Given the description of an element on the screen output the (x, y) to click on. 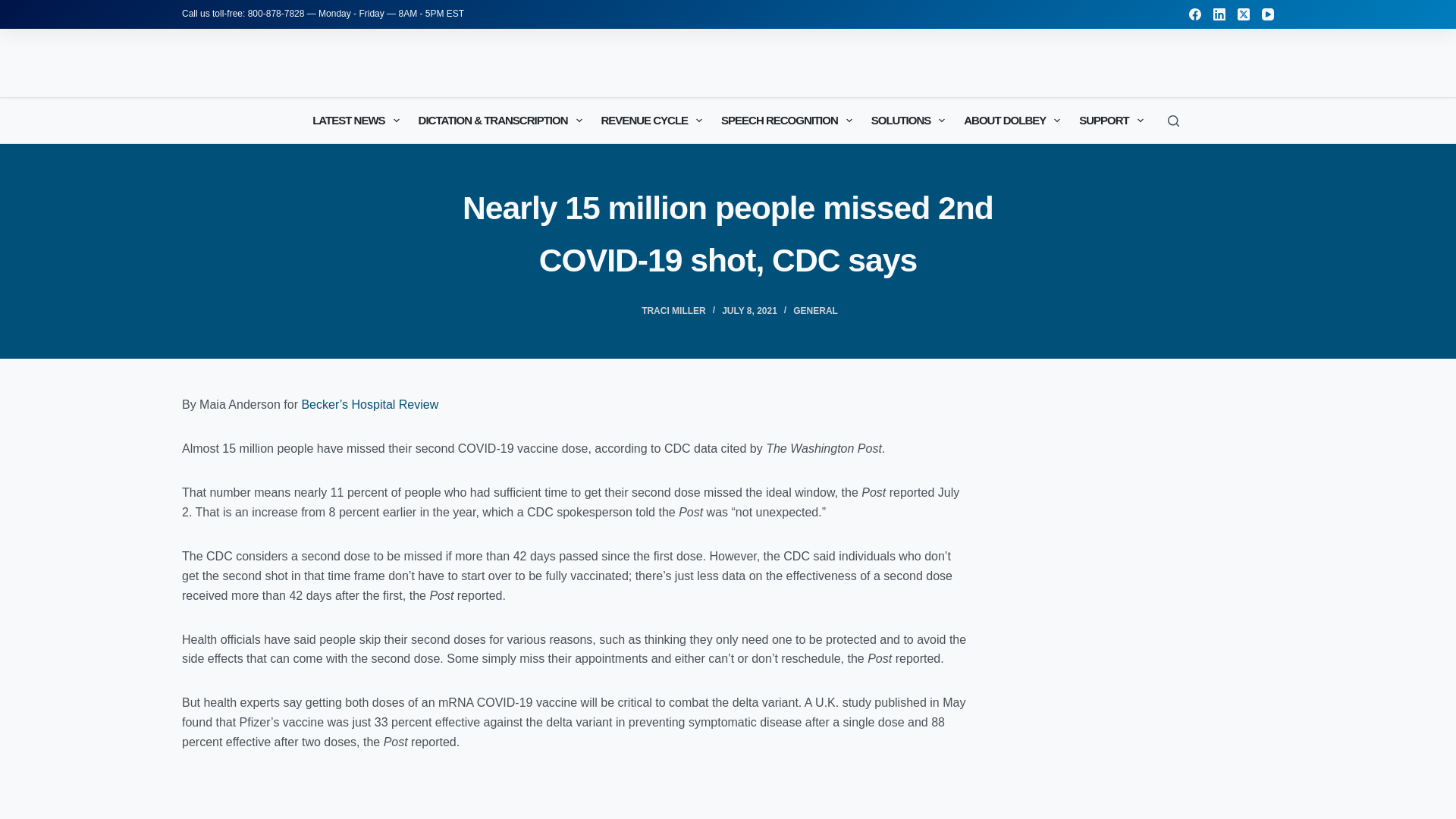
Posts by Traci Miller (674, 310)
Skip to content (15, 7)
Nearly 15 million people missed 2nd COVID-19 shot, CDC says (727, 233)
